Given the description of an element on the screen output the (x, y) to click on. 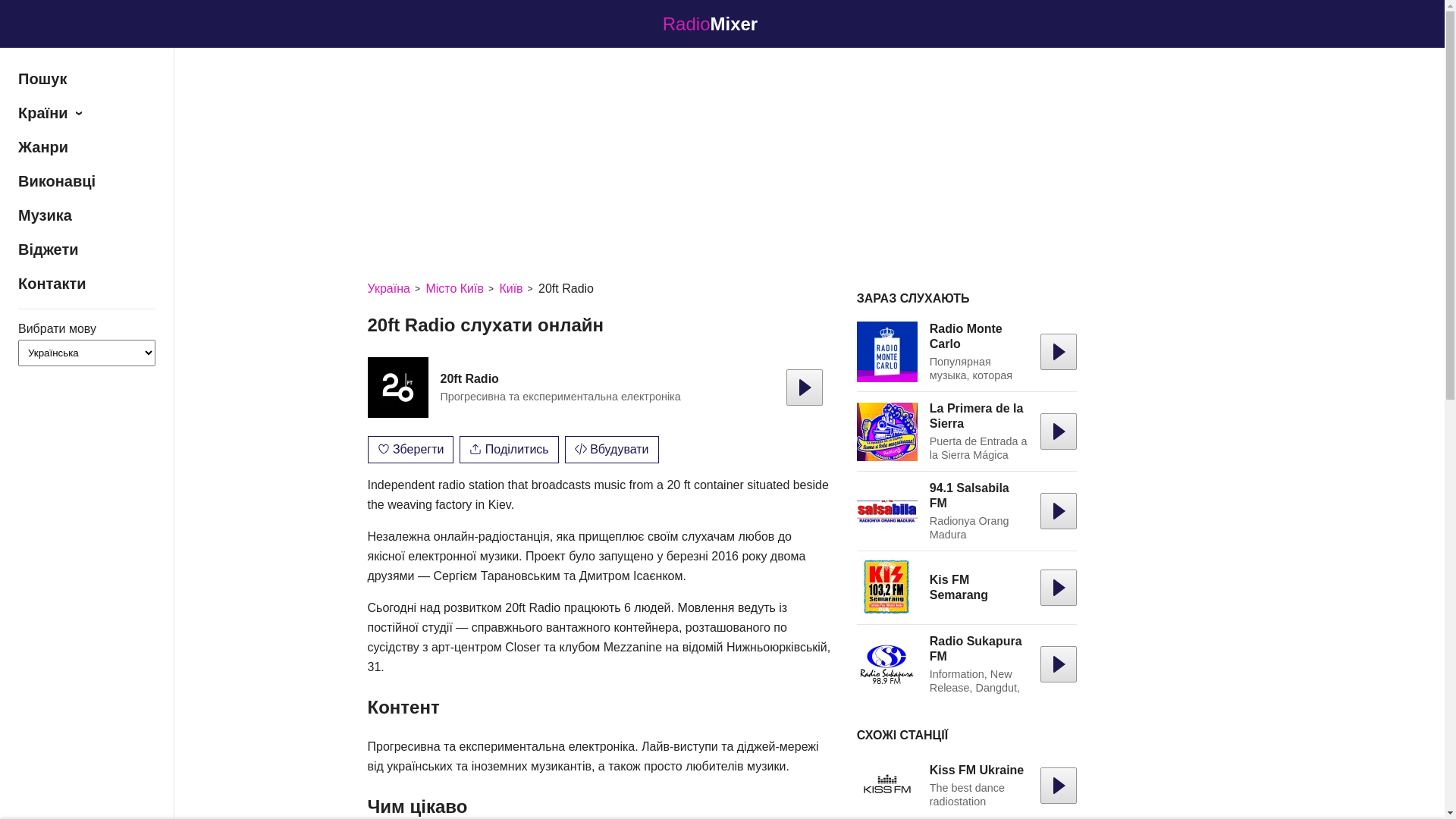
La Primera de la Sierra Element type: hover (886, 431)
Radio Monte Carlo Element type: hover (886, 351)
Kiss FM Ukraine Element type: hover (886, 785)
94.1 Salsabila FM Element type: hover (886, 510)
Kis FM Semarang Element type: hover (886, 587)
20ft Radio Element type: hover (397, 387)
94.1 Salsabila FM Element type: text (969, 495)
RadioMixer Element type: text (721, 24)
La Primera de la Sierra Element type: text (976, 415)
Radio Sukapura FM Element type: hover (886, 663)
20ft Radio Element type: text (468, 378)
Advertisement Element type: hover (721, 160)
Kis FM Semarang Element type: text (958, 587)
Radio Monte Carlo Element type: text (965, 336)
Kiss FM Ukraine Element type: text (976, 769)
Radio Sukapura FM Element type: text (975, 648)
